Given the description of an element on the screen output the (x, y) to click on. 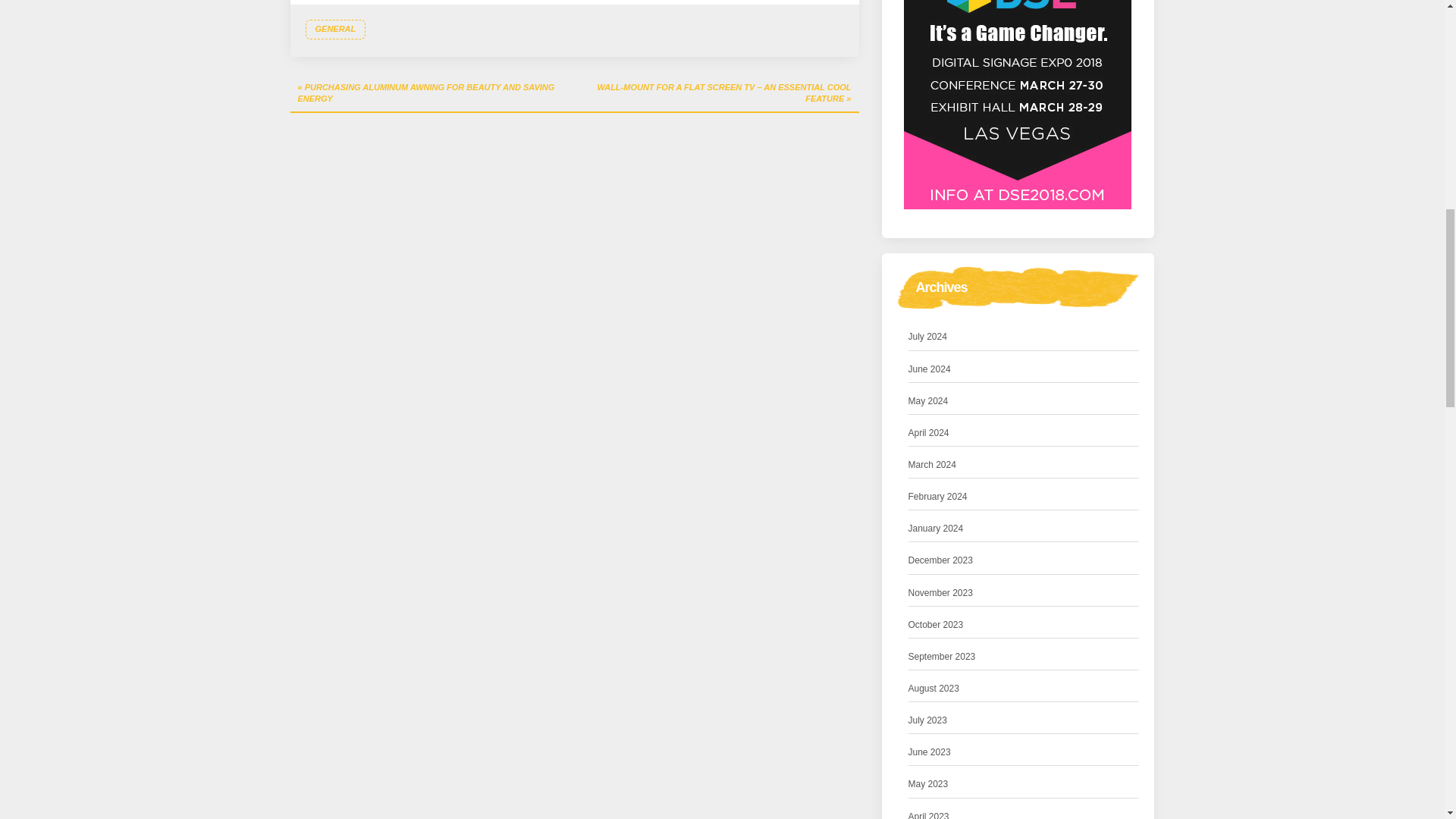
July 2024 (927, 336)
GENERAL (334, 29)
September 2023 (941, 657)
April 2023 (928, 814)
November 2023 (940, 593)
March 2024 (932, 465)
August 2023 (933, 688)
May 2023 (928, 784)
June 2024 (929, 369)
December 2023 (940, 560)
May 2024 (928, 401)
July 2023 (927, 720)
June 2023 (929, 752)
February 2024 (938, 496)
January 2024 (935, 528)
